Given the description of an element on the screen output the (x, y) to click on. 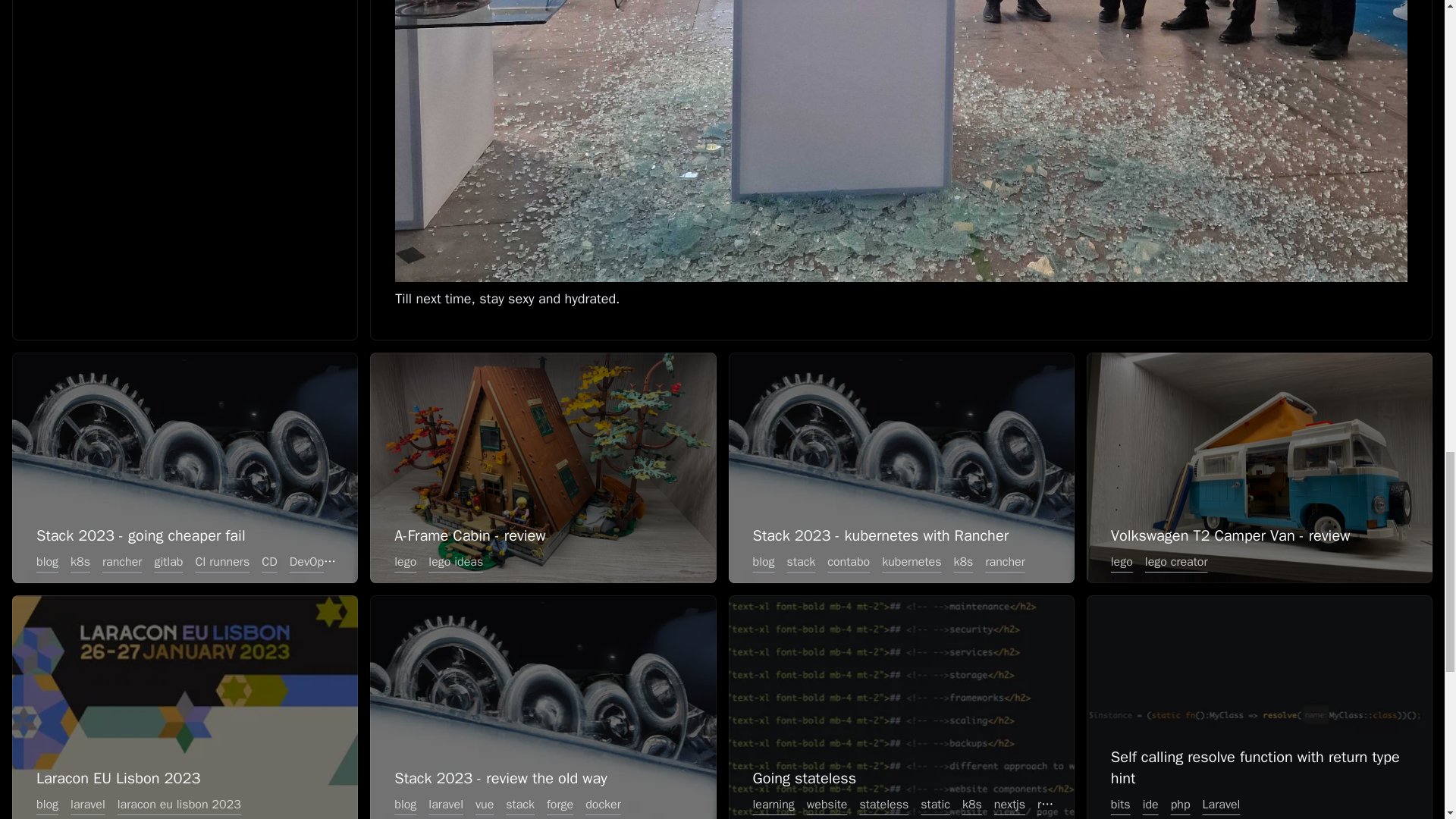
blog (405, 804)
lego (1121, 561)
GitOps (360, 561)
k8s (80, 561)
laravel (88, 804)
DevOps (309, 561)
blog (762, 561)
lego (405, 561)
learning (772, 804)
vue (483, 804)
